Given the description of an element on the screen output the (x, y) to click on. 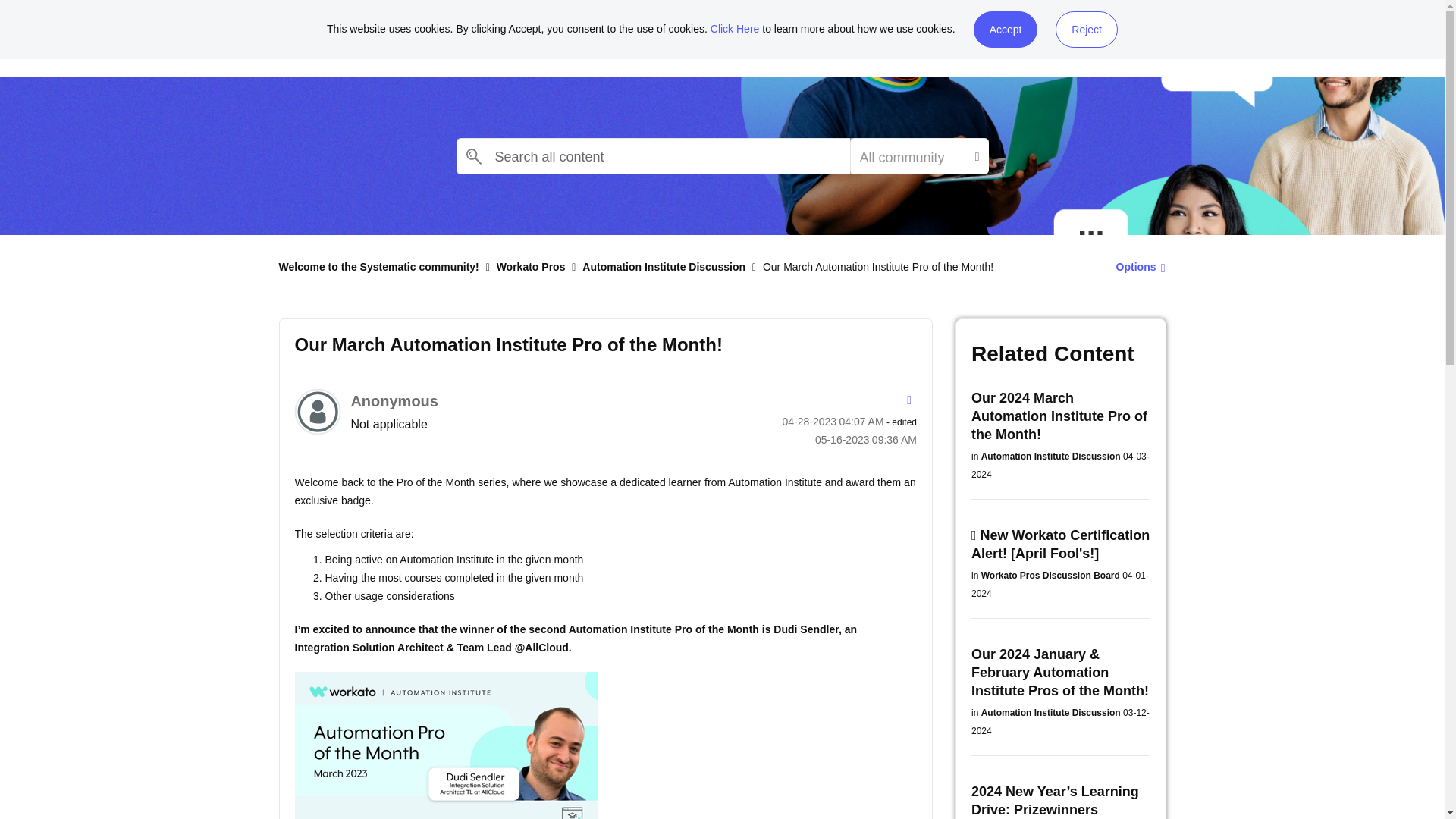
Accept (1006, 29)
Search (653, 156)
Search Granularity (918, 156)
Search (474, 155)
Systematic Welcome Lounge (445, 37)
Click Here (735, 28)
Show option menu (1136, 266)
Search (474, 155)
Workato Pros (621, 37)
Regional User Groups (892, 37)
